Given the description of an element on the screen output the (x, y) to click on. 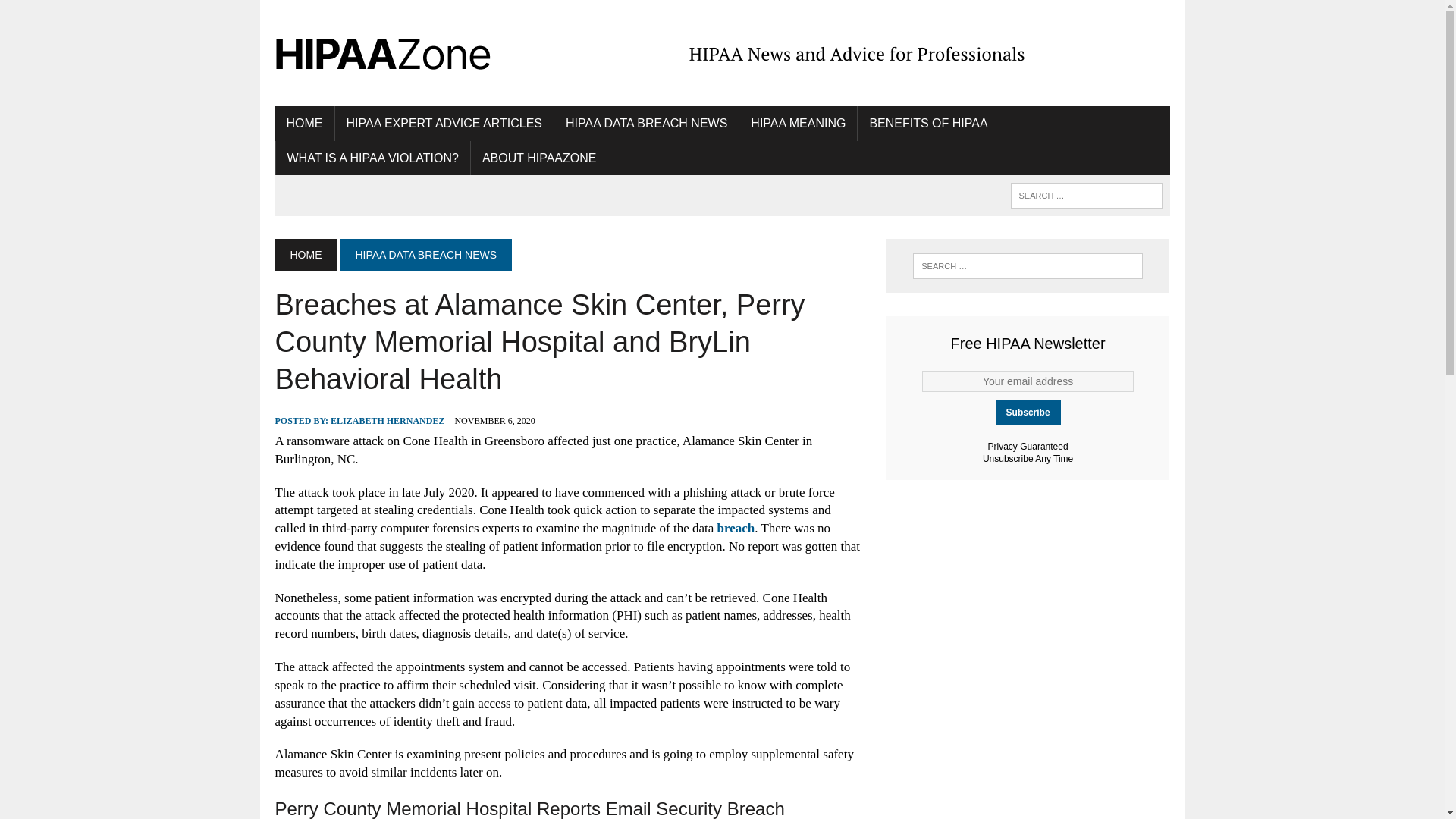
ABOUT HIPAAZONE (539, 158)
BENEFITS OF HIPAA (927, 123)
ELIZABETH HERNANDEZ (387, 420)
HIPAA MEANING (798, 123)
breach (736, 527)
Search (75, 14)
HIPAA DATA BREACH NEWS (646, 123)
HIPAA DATA BREACH NEWS (425, 255)
HIPAAzone (416, 52)
Subscribe (1028, 412)
Subscribe (1028, 412)
HOME (304, 123)
HIPAA EXPERT ADVICE ARTICLES (443, 123)
WHAT IS A HIPAA VIOLATION? (373, 158)
HOME (305, 255)
